Given the description of an element on the screen output the (x, y) to click on. 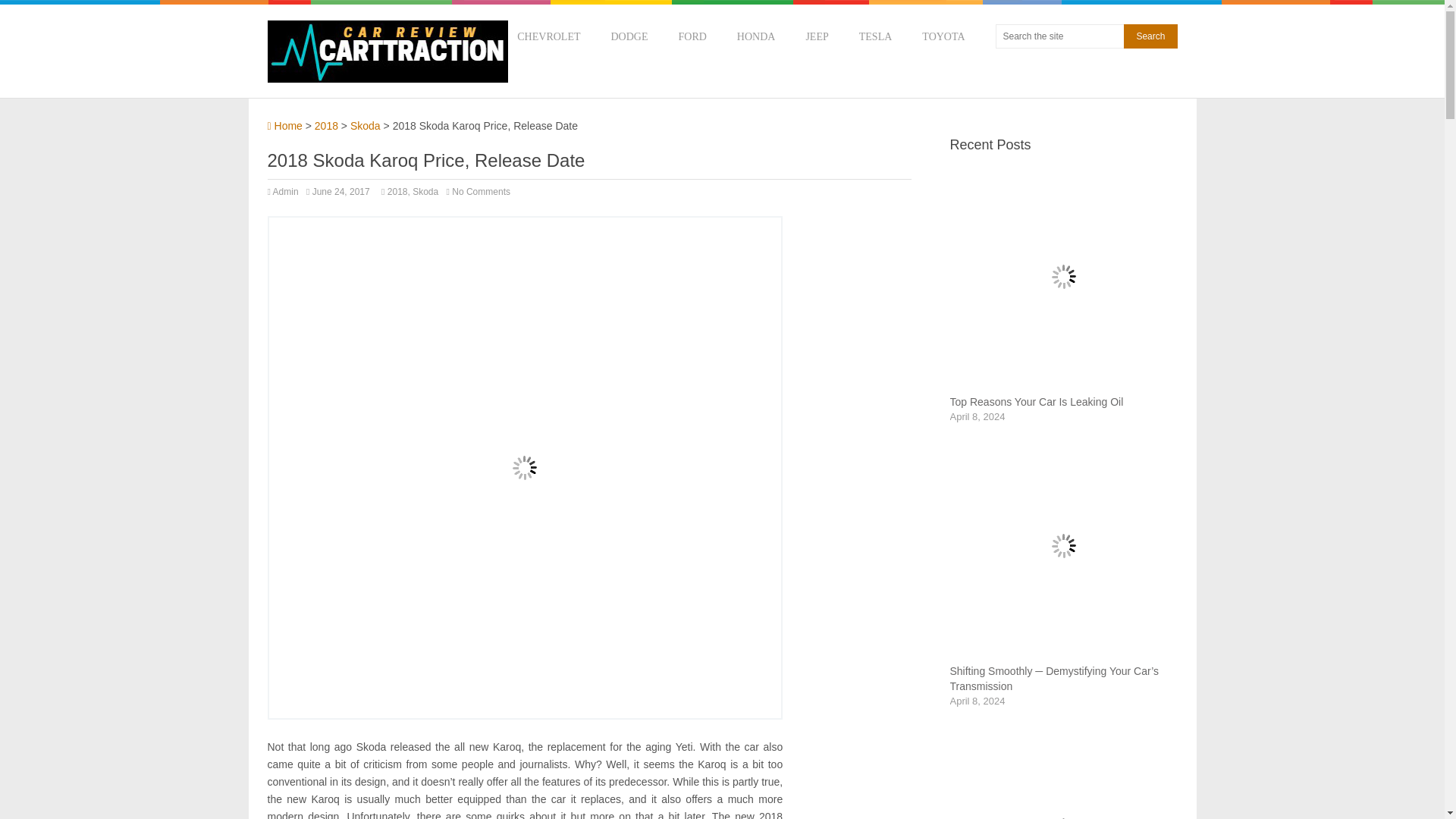
Search (1150, 36)
2018 (397, 191)
FORD (692, 36)
TOYOTA (942, 36)
Posts by Admin (285, 191)
Skoda (425, 191)
HONDA (756, 36)
JEEP (816, 36)
Admin (285, 191)
TESLA (875, 36)
2018 (325, 125)
Skoda (365, 125)
No Comments (481, 191)
DODGE (629, 36)
 Home (283, 125)
